Given the description of an element on the screen output the (x, y) to click on. 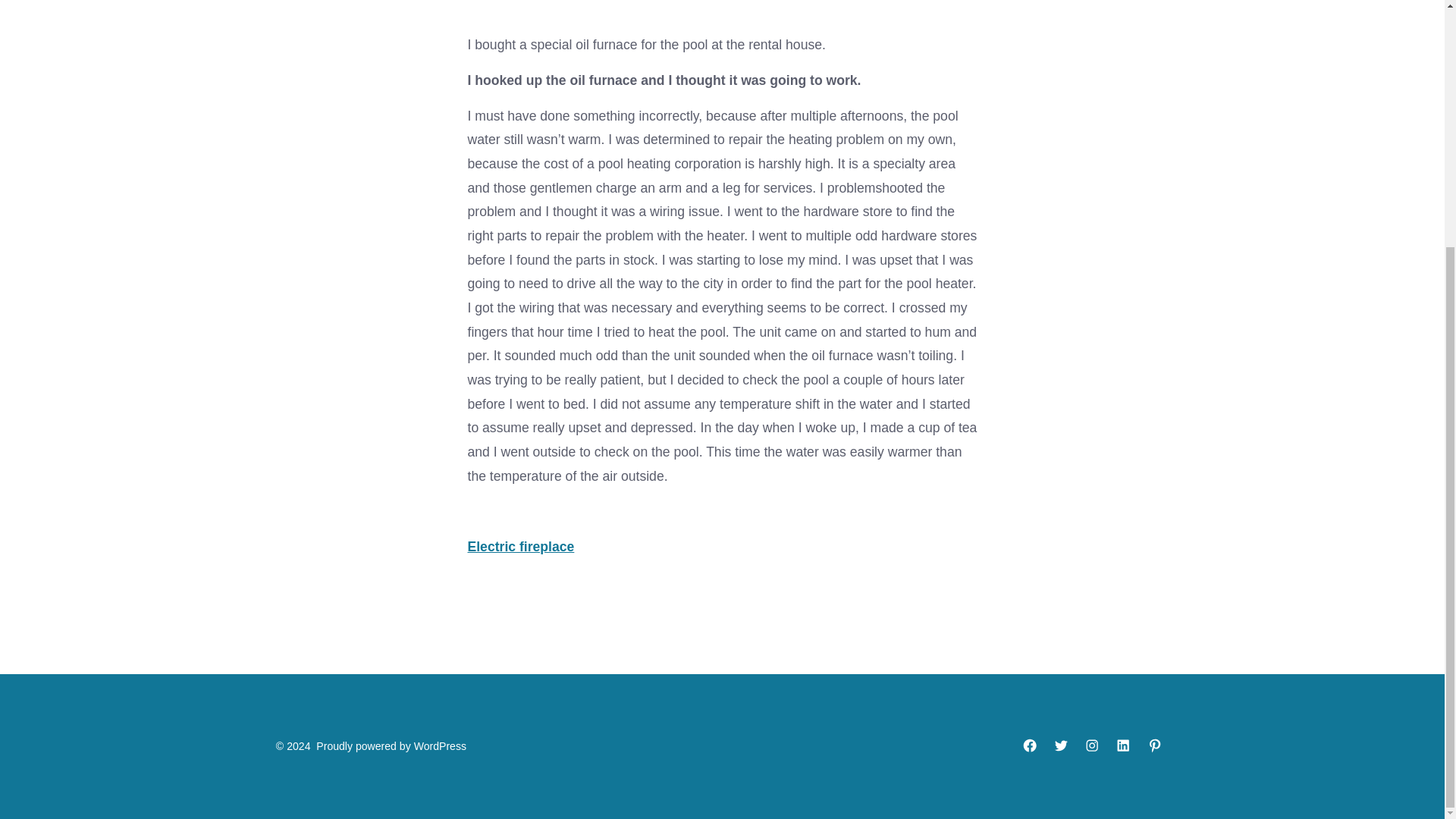
Open Pinterest in a new tab (1155, 745)
Open Instagram in a new tab (1091, 745)
Open Twitter in a new tab (1060, 745)
Open LinkedIn in a new tab (1123, 745)
Electric fireplace (520, 546)
Open Facebook in a new tab (1029, 745)
